Given the description of an element on the screen output the (x, y) to click on. 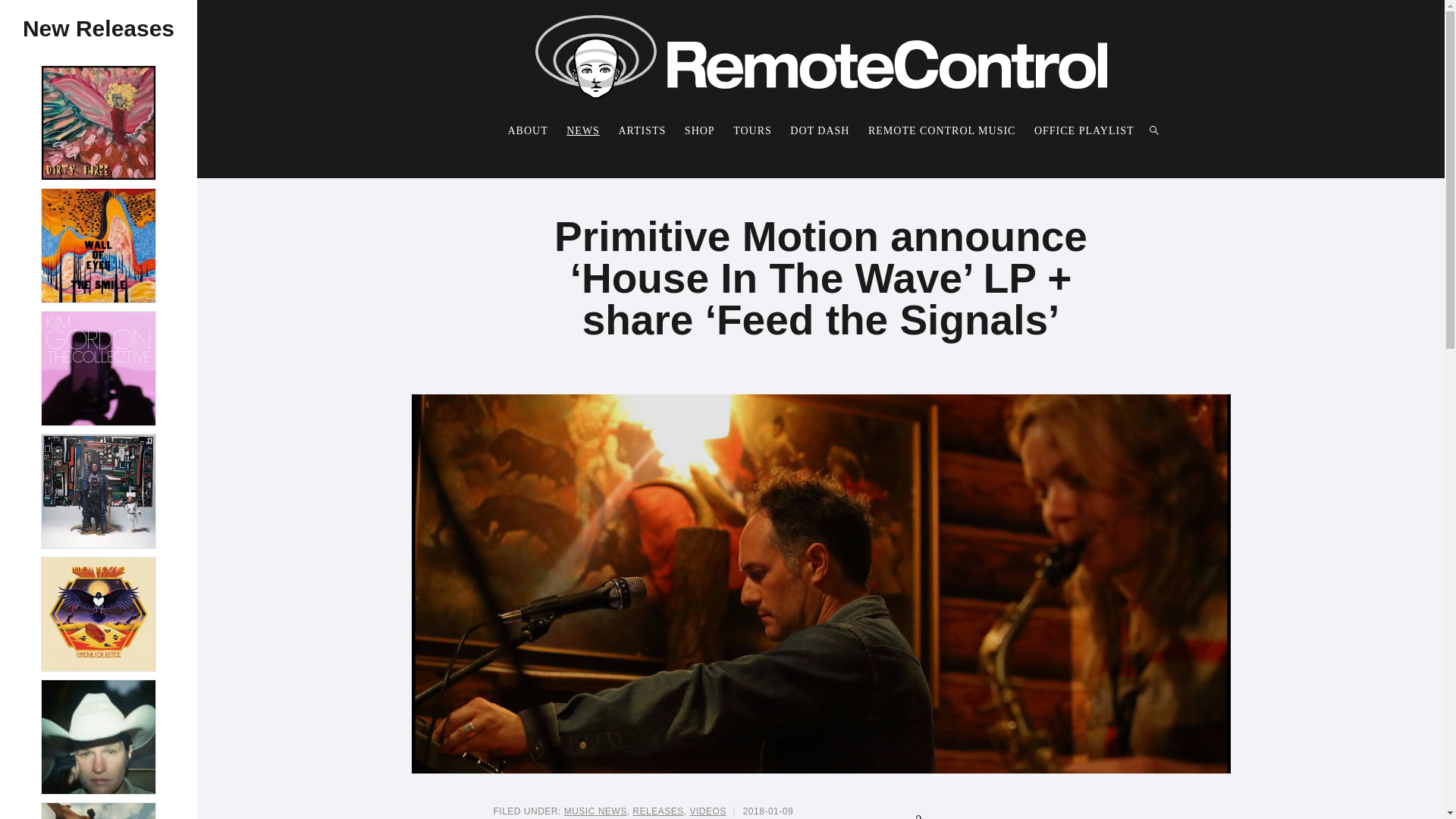
Adrianne Lenker - Bright Future (98, 736)
VIDEOS (706, 810)
SHARE THIS (1030, 811)
RELEASES (656, 810)
REMOTE CONTROL MUSIC (941, 130)
Sampha - LAHAI (98, 811)
The Smile - Wall Of Eyes (98, 245)
MUSIC NEWS (595, 810)
DOT DASH (819, 130)
Mdou Moctar - Funeral For Justice (98, 613)
